Given the description of an element on the screen output the (x, y) to click on. 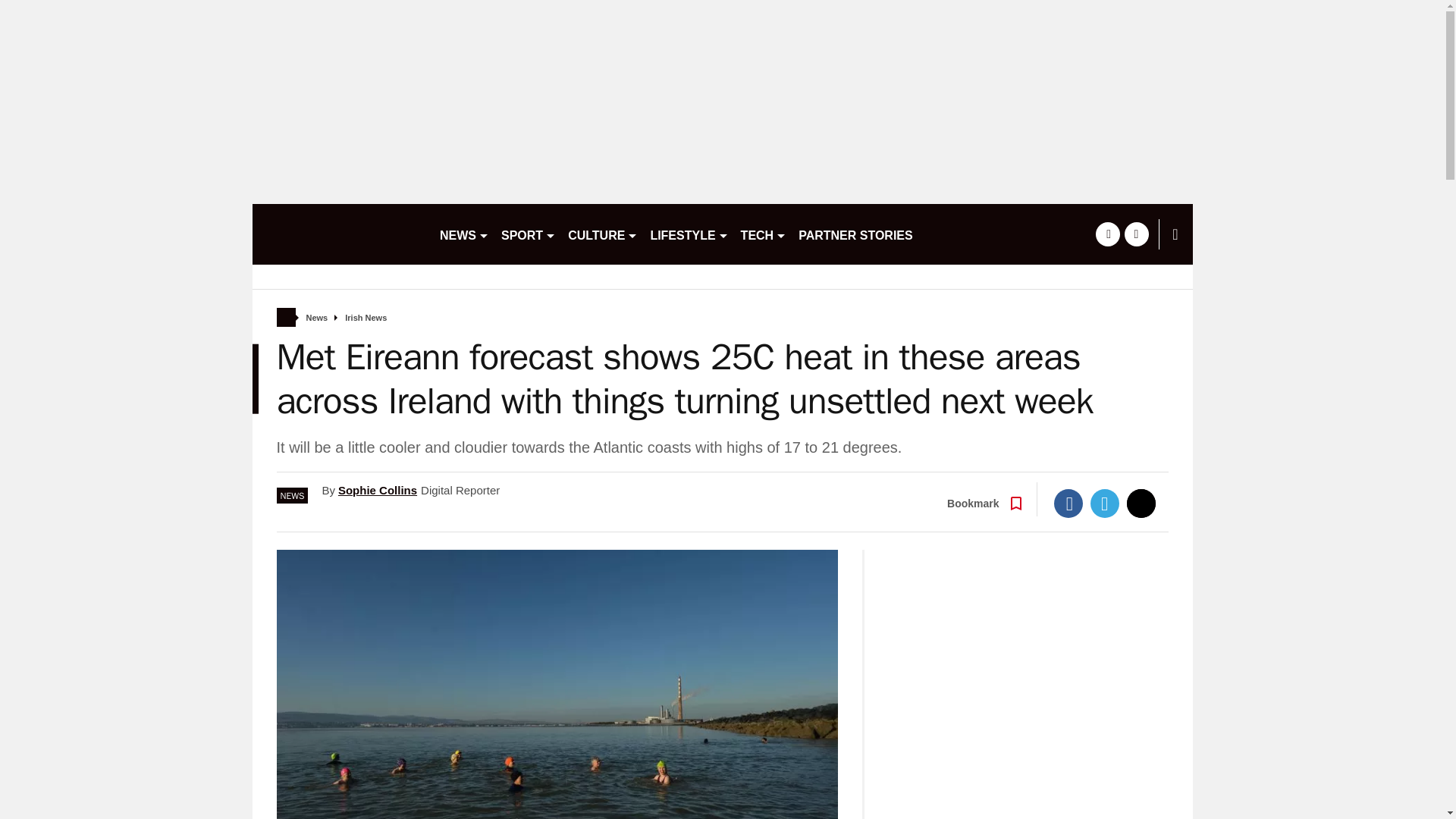
Facebook (1068, 502)
SPORT (528, 233)
Twitter (1104, 502)
CULTURE (602, 233)
facebook (1106, 233)
PARTNER STORIES (855, 233)
NEWS (464, 233)
twitter (1136, 233)
buzz (338, 233)
TECH (764, 233)
